Given the description of an element on the screen output the (x, y) to click on. 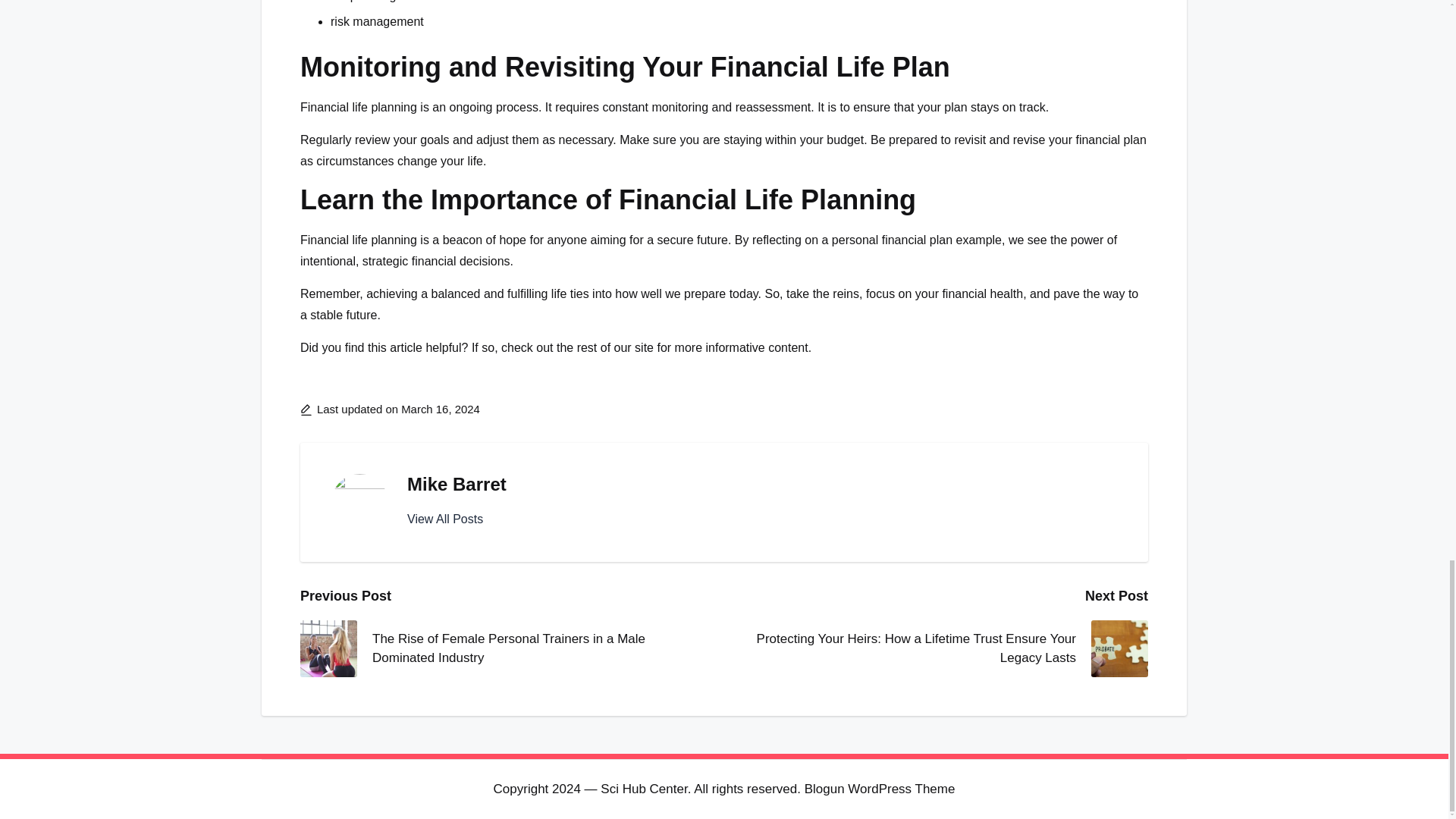
Blogun WordPress Theme (880, 789)
View All Posts (445, 519)
Mike Barret (456, 484)
